Given the description of an element on the screen output the (x, y) to click on. 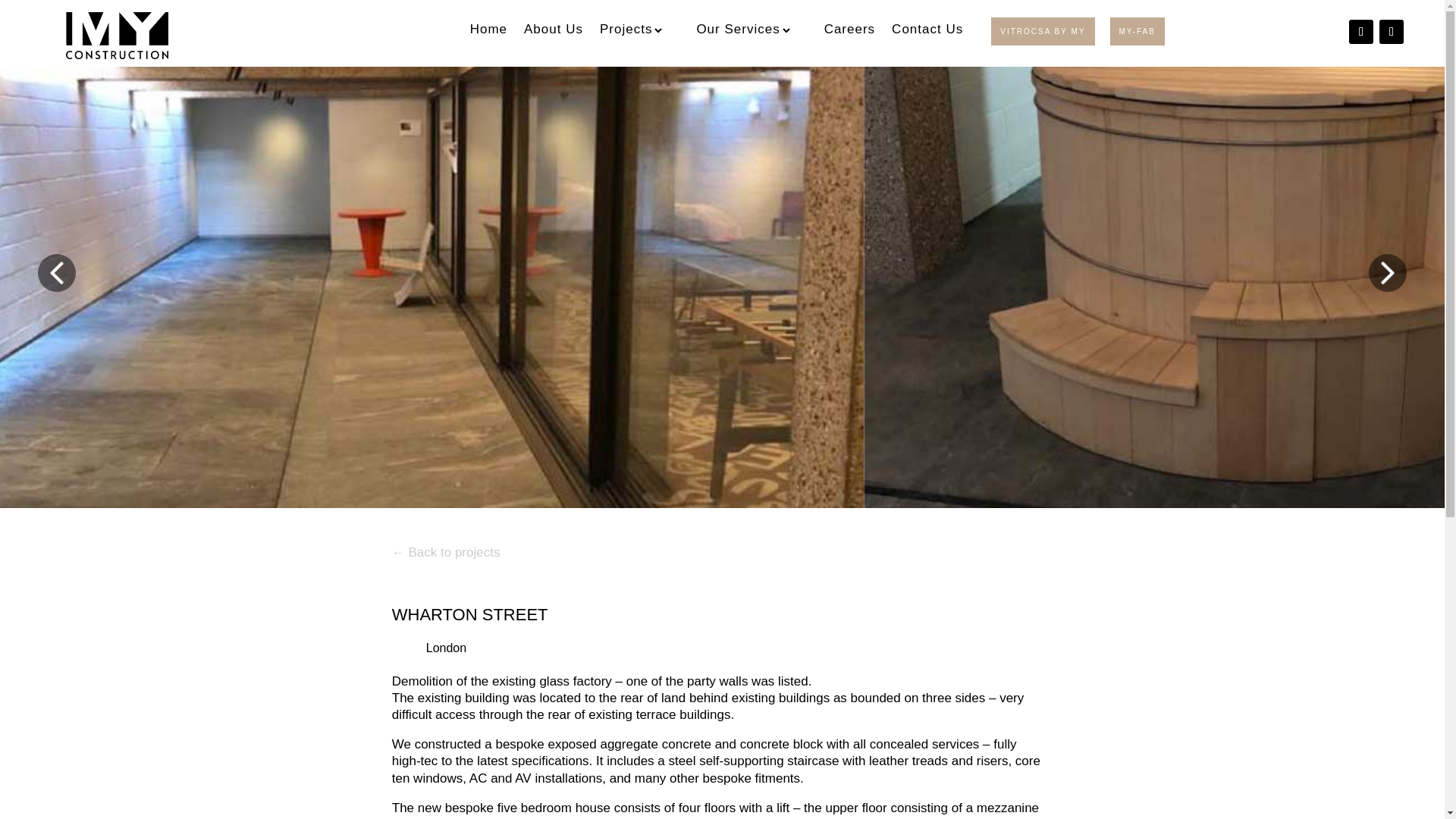
About Us (553, 34)
Our Services (750, 33)
VITROCSA BY MY (1042, 31)
MY-FAB (1136, 31)
Follow on Instagram (1361, 31)
Contact Us (926, 34)
Home (488, 34)
Careers (849, 34)
Projects (639, 33)
Follow on Facebook (1390, 31)
